Given the description of an element on the screen output the (x, y) to click on. 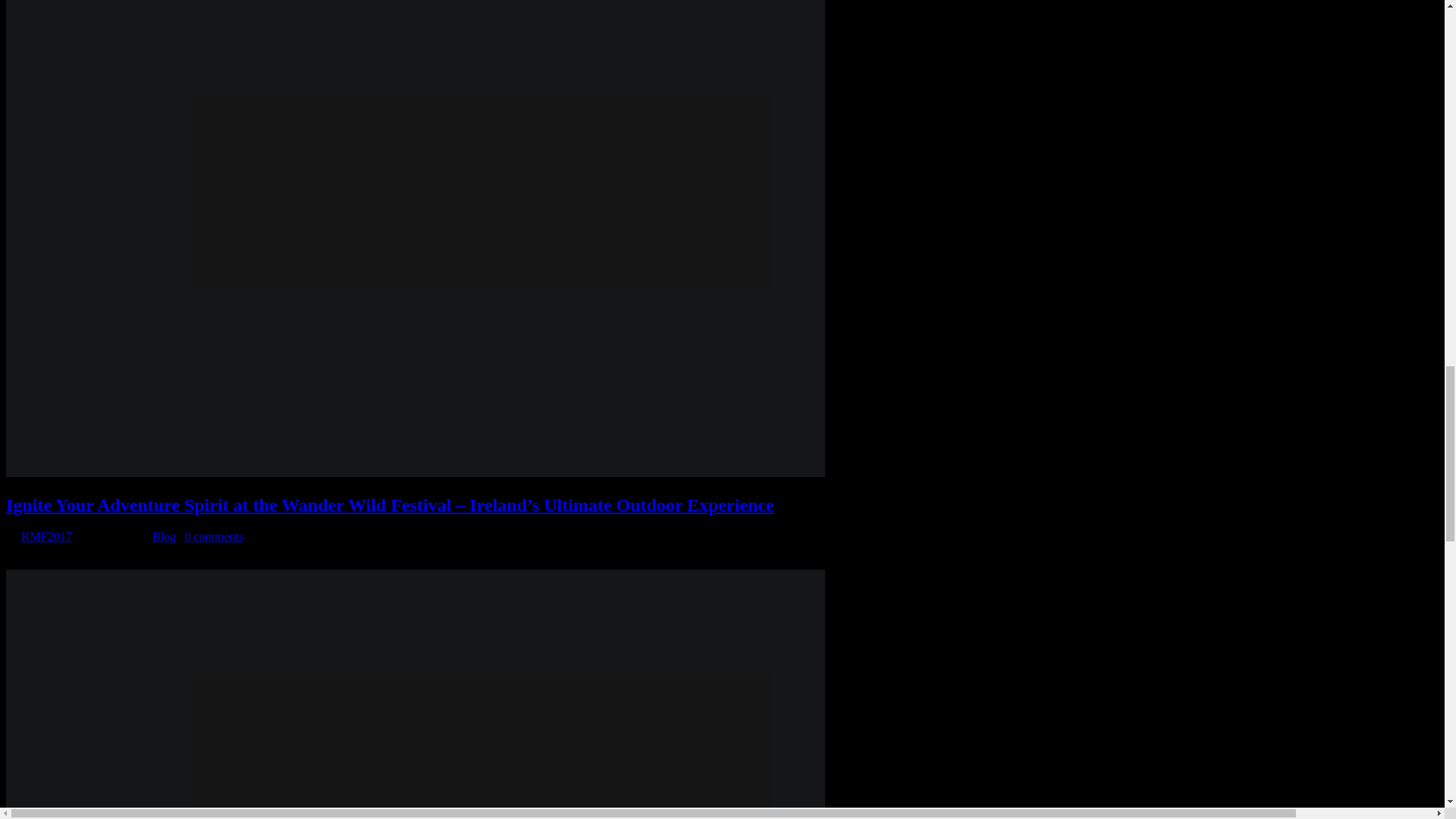
Posts by KMF2017 (46, 535)
Blog (164, 535)
0 comments (213, 535)
KMF2017 (46, 535)
